Given the description of an element on the screen output the (x, y) to click on. 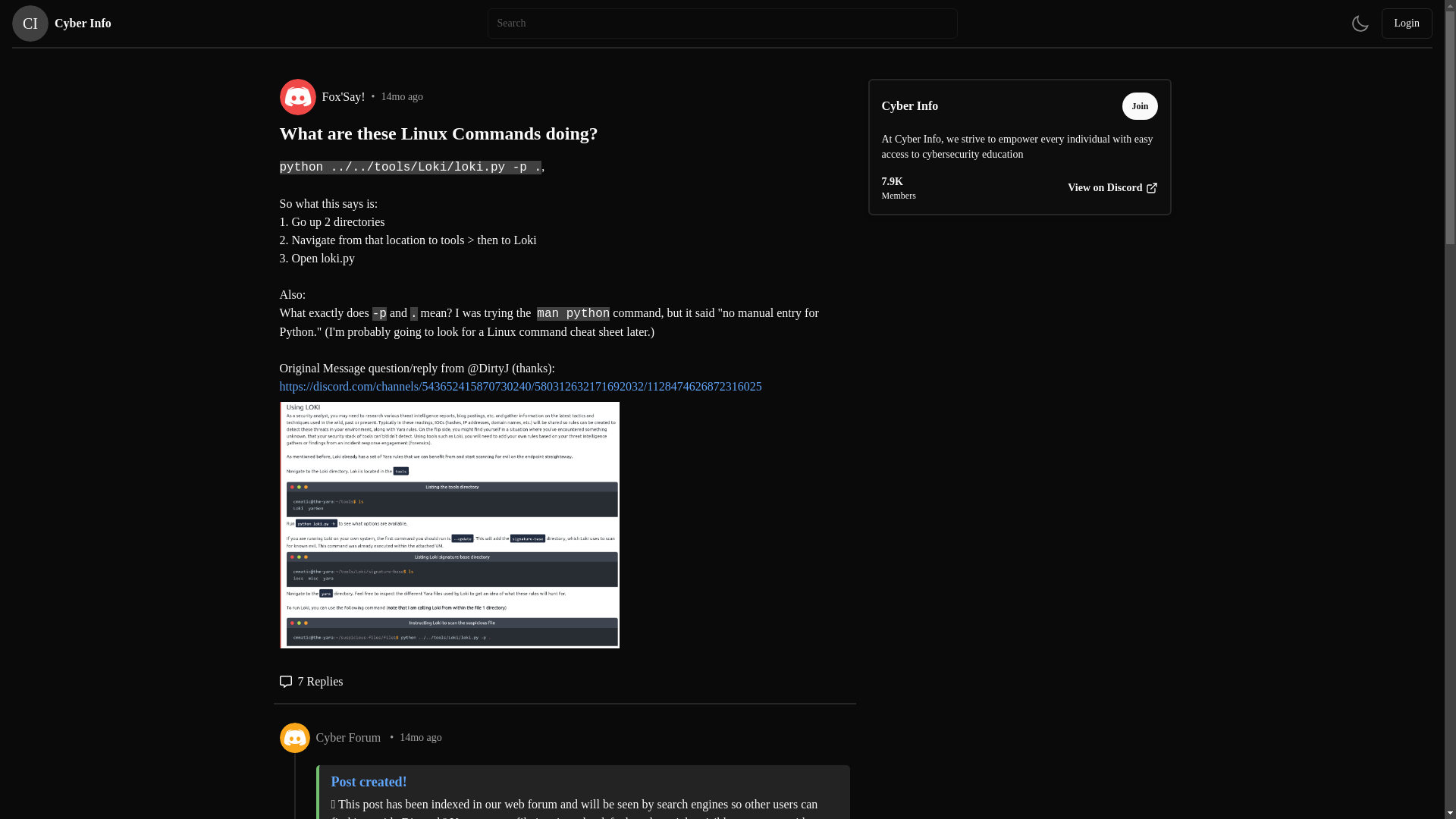
Change Theme (1360, 23)
Login (1406, 23)
Cyber Info (908, 106)
Post created! (580, 781)
Fox'Say! (343, 96)
Cyber Forum (347, 737)
View on Discord (61, 22)
Join (1112, 187)
